Given the description of an element on the screen output the (x, y) to click on. 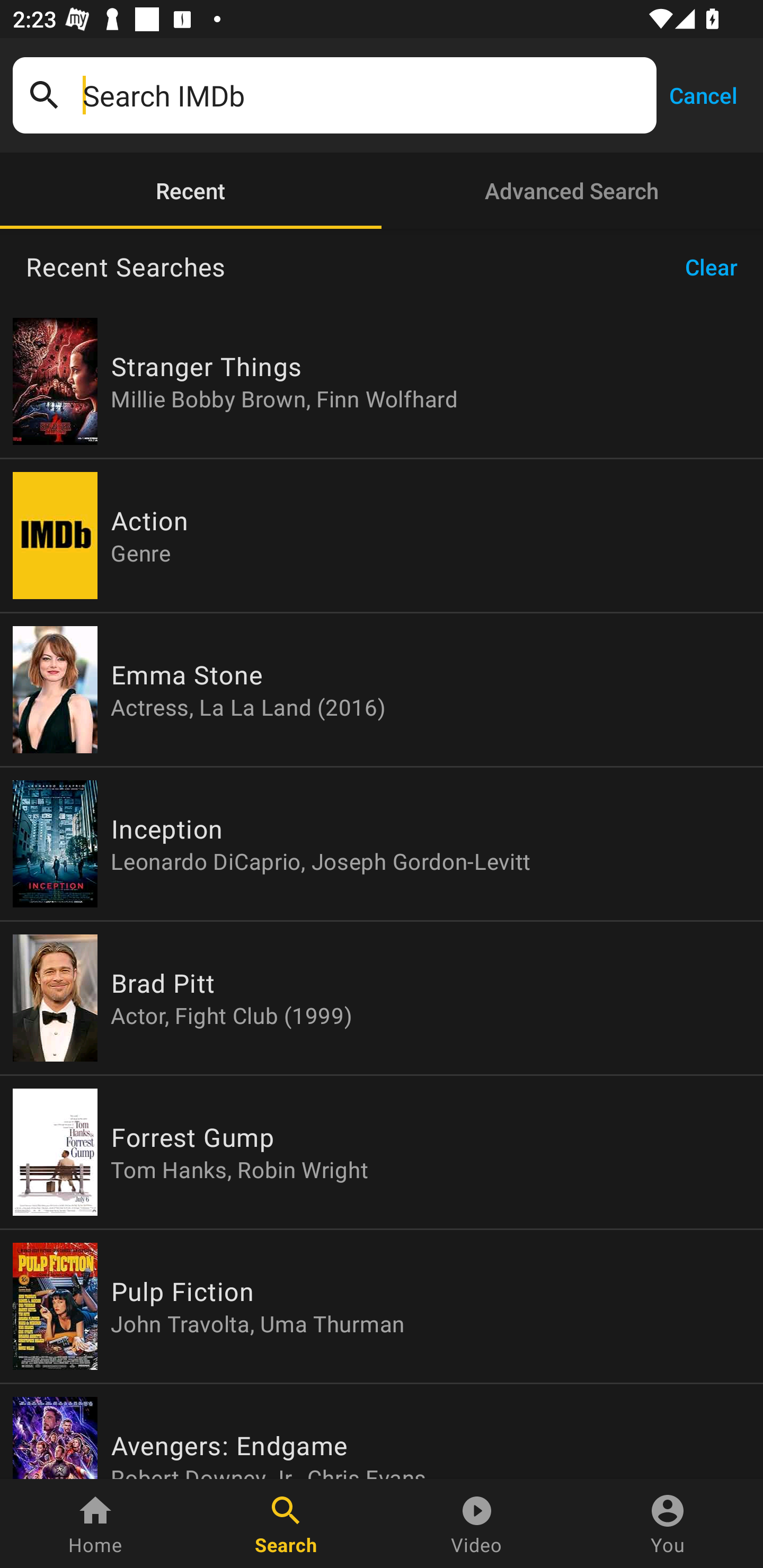
Cancel (703, 94)
Search IMDb (363, 95)
Advanced Search (572, 190)
Clear (717, 266)
Stranger Things Millie Bobby Brown, Finn Wolfhard (381, 381)
Action Genre (381, 535)
Emma Stone Actress, La La Land (2016) (381, 689)
Inception Leonardo DiCaprio, Joseph Gordon-Levitt (381, 844)
Brad Pitt Actor, Fight Club (1999) (381, 997)
Forrest Gump Tom Hanks, Robin Wright (381, 1151)
Pulp Fiction John Travolta, Uma Thurman (381, 1305)
Avengers: Endgame Robert Downey Jr., Chris Evans (381, 1431)
Home (95, 1523)
Video (476, 1523)
You (667, 1523)
